Given the description of an element on the screen output the (x, y) to click on. 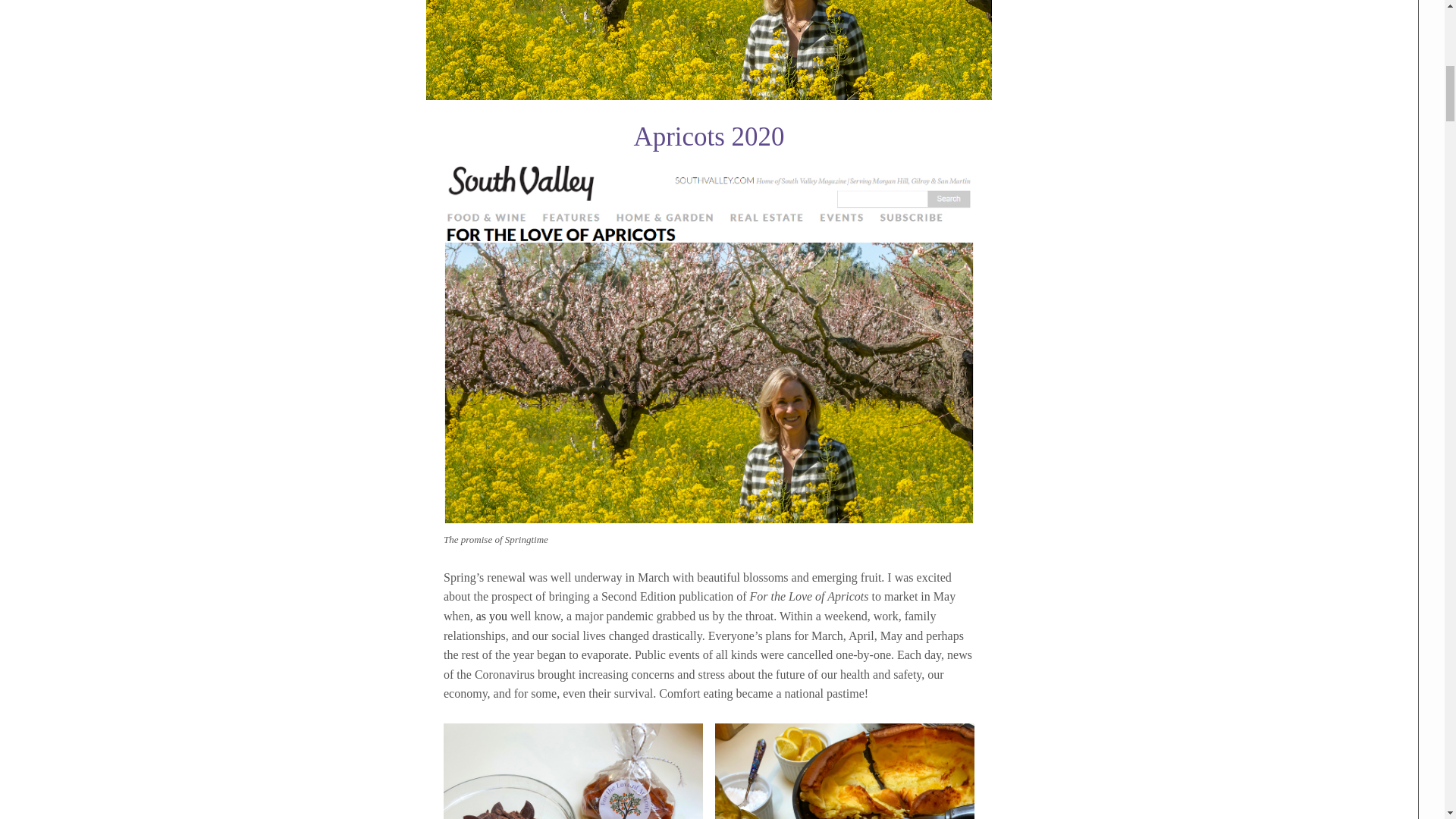
Apricots 2020 (708, 95)
